Given the description of an element on the screen output the (x, y) to click on. 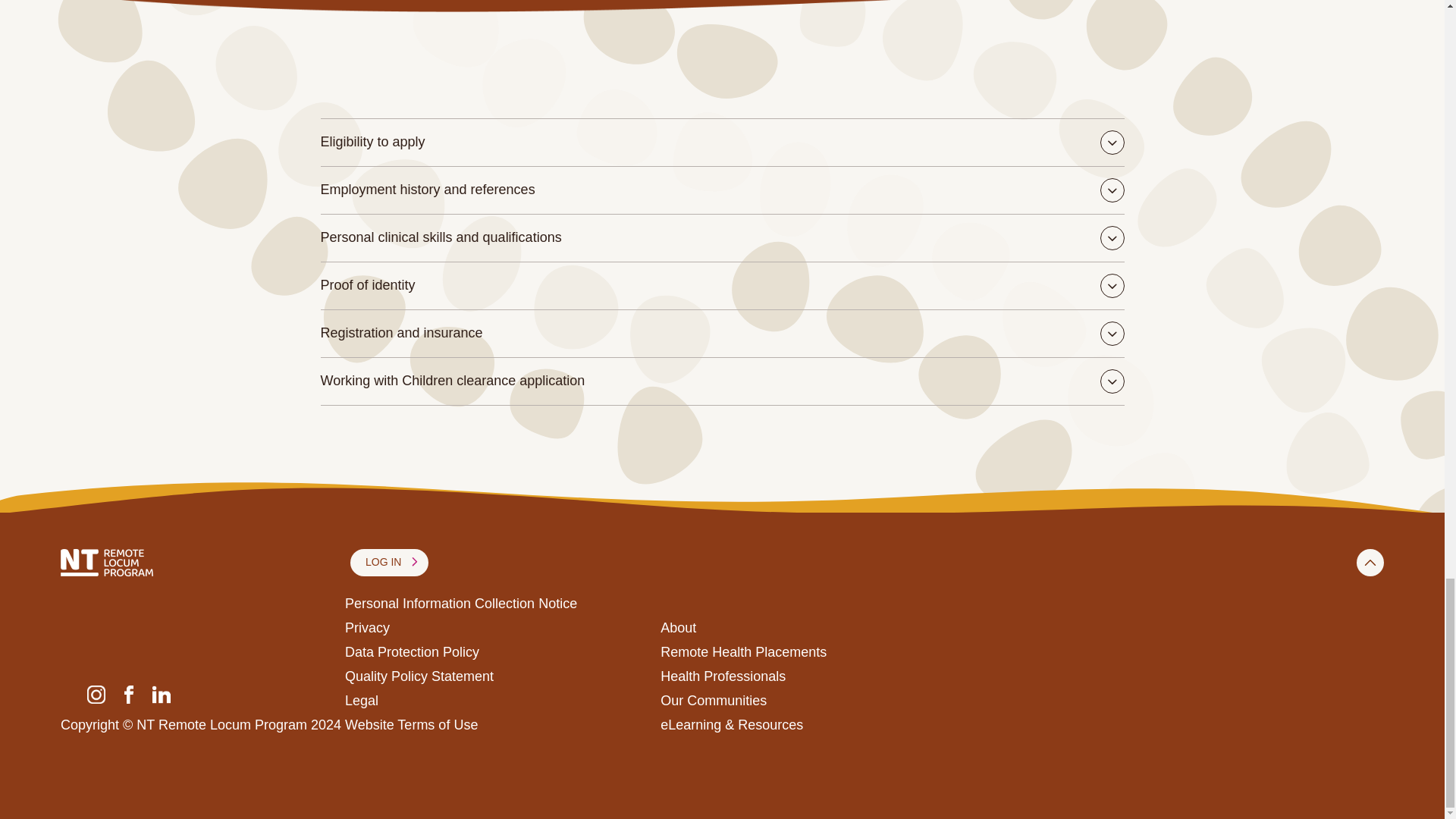
Facebook (128, 693)
Proof of identity (722, 285)
Eligibility to apply (722, 142)
Instagram (95, 693)
Employment history and references (722, 190)
LinkedIn (161, 693)
Personal clinical skills and qualifications (722, 237)
Working with Children clearance application (722, 380)
Registration and insurance (722, 333)
LOG IN (389, 562)
